Given the description of an element on the screen output the (x, y) to click on. 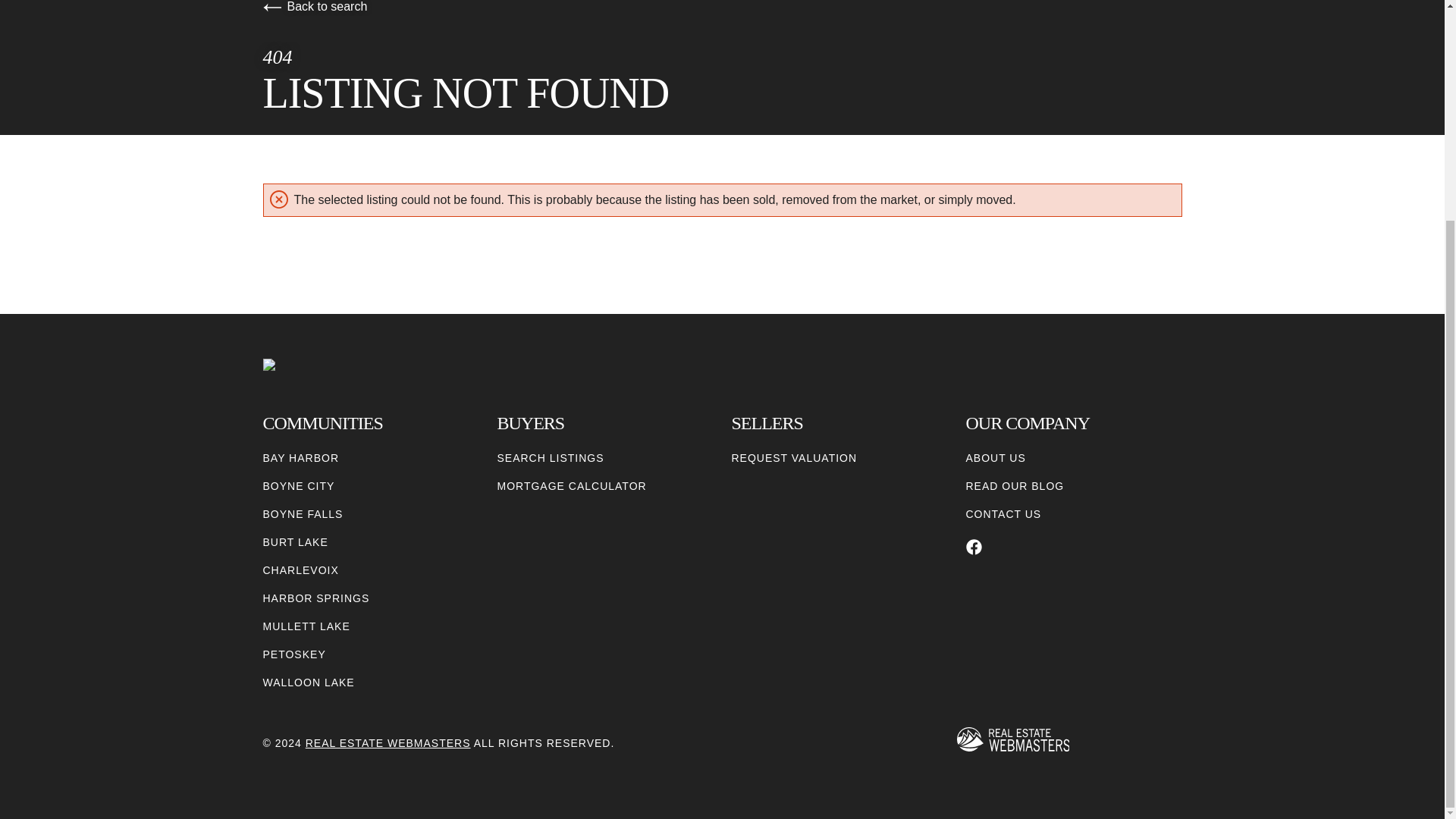
BAY HARBOR (300, 458)
BOYNE CITY (298, 486)
FACEBOOK (973, 546)
Back to search (314, 6)
